Given the description of an element on the screen output the (x, y) to click on. 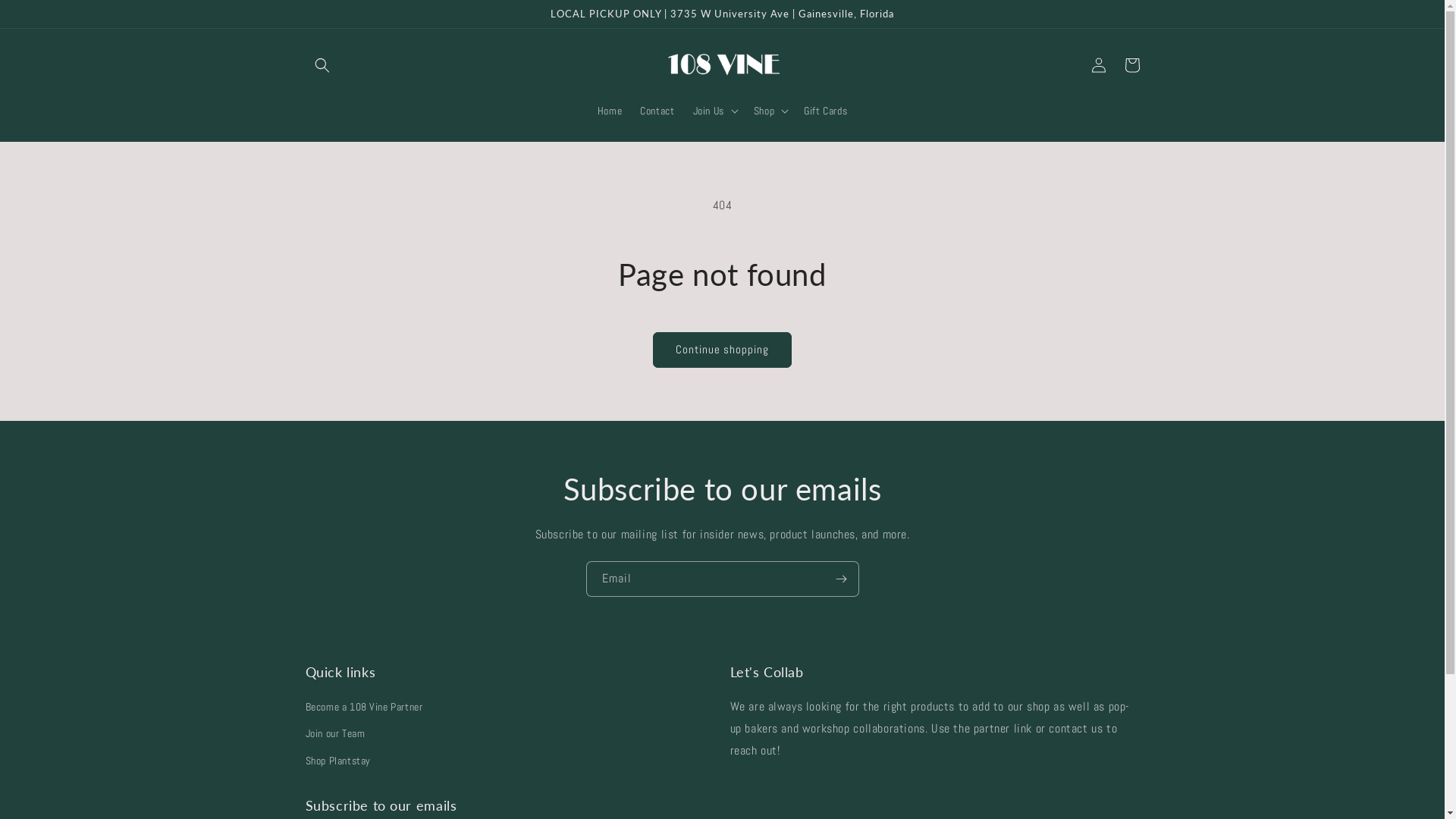
Home Element type: text (609, 110)
Gift Cards Element type: text (825, 110)
Contact Element type: text (656, 110)
Log in Element type: text (1097, 64)
Continue shopping Element type: text (721, 349)
Shop Plantstay Element type: text (337, 760)
Join our Team Element type: text (334, 733)
Cart Element type: text (1131, 64)
Become a 108 Vine Partner Element type: text (363, 708)
